Given the description of an element on the screen output the (x, y) to click on. 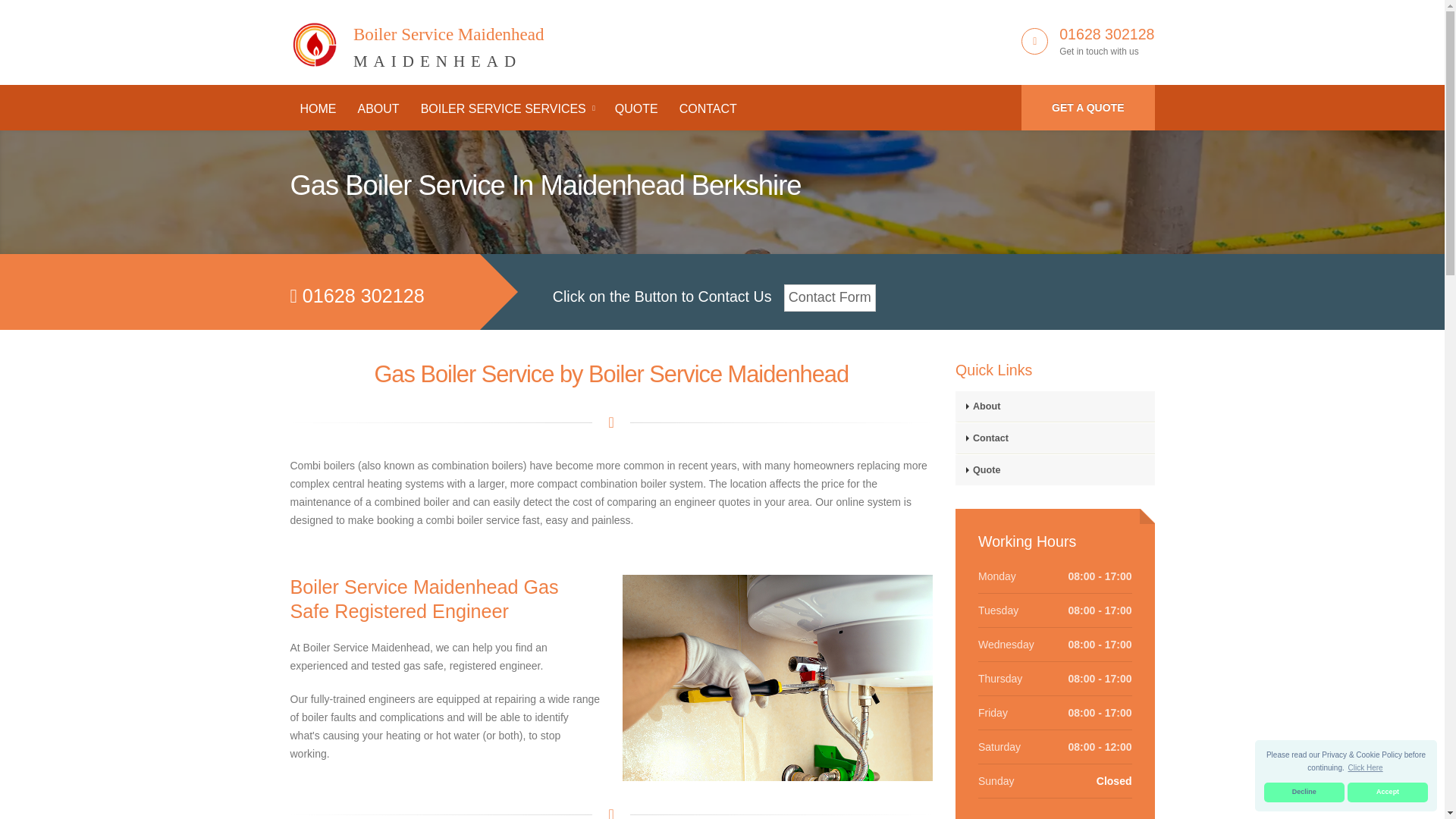
01628 302128 (416, 38)
ABOUT (1106, 33)
Decline (378, 109)
HOME (1303, 792)
BOILER SERVICE SERVICES (317, 109)
Accept (507, 109)
GET A QUOTE (1388, 792)
Click Here (1088, 107)
